Given the description of an element on the screen output the (x, y) to click on. 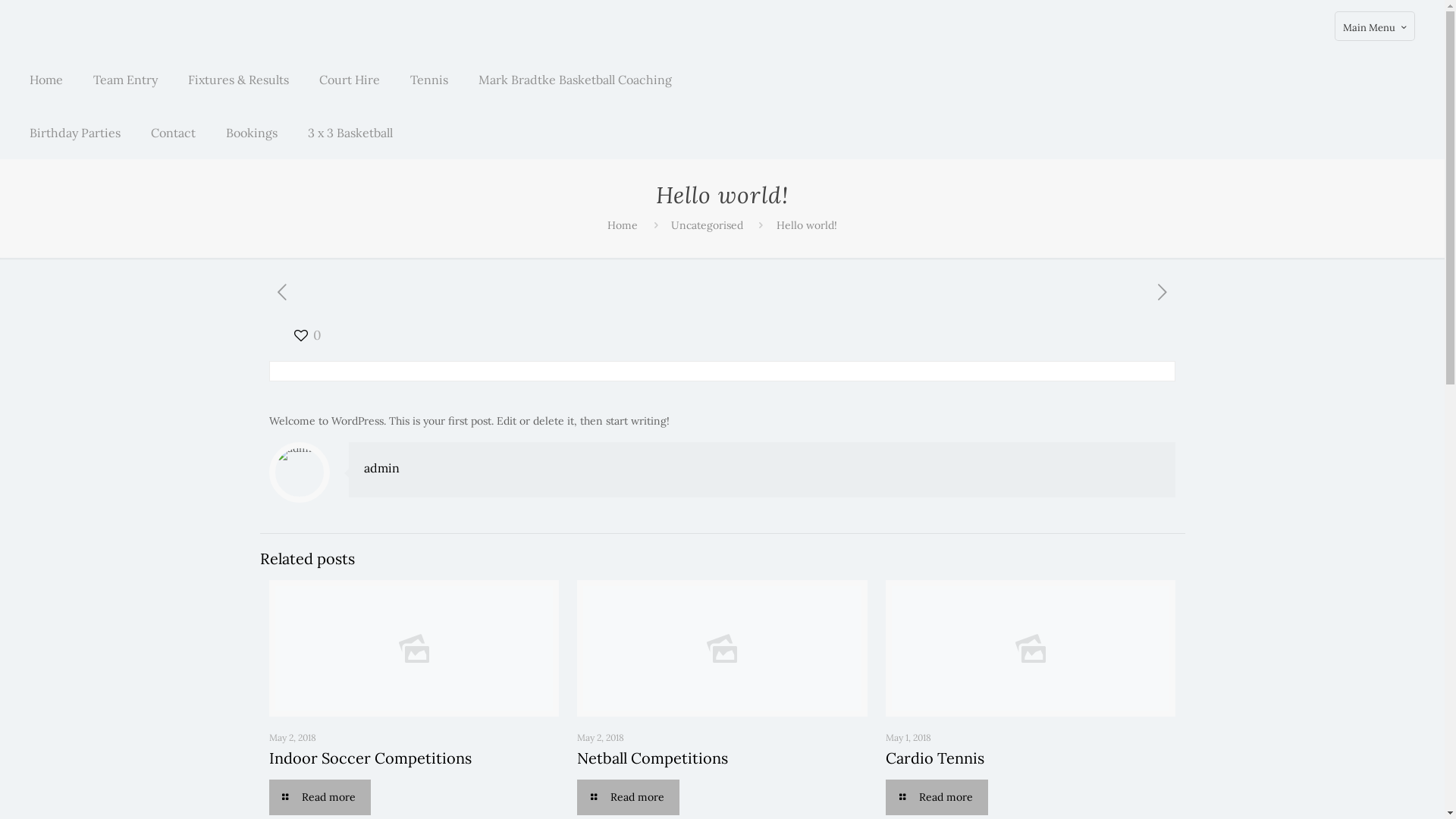
Contact Element type: text (172, 132)
Read more Element type: text (628, 797)
Cardio Tennis Element type: text (934, 757)
Uncategorised Element type: text (707, 225)
Hello world! Element type: text (806, 225)
0 Element type: text (306, 335)
Court Hire Element type: text (349, 79)
Birthday Parties Element type: text (74, 132)
Main Menu Element type: text (1374, 25)
Home Element type: text (622, 225)
Bookings Element type: text (251, 132)
Read more Element type: text (320, 797)
Read more Element type: text (936, 797)
admin Element type: text (381, 467)
Tennis Element type: text (429, 79)
3 x 3 Basketball Element type: text (349, 132)
Netball Competitions Element type: text (652, 757)
Mark Bradtke Basketball Coaching Element type: text (575, 79)
Indoor Soccer Competitions Element type: text (370, 757)
Team Entry Element type: text (125, 79)
Home Element type: text (46, 79)
Fixtures & Results Element type: text (238, 79)
